Given the description of an element on the screen output the (x, y) to click on. 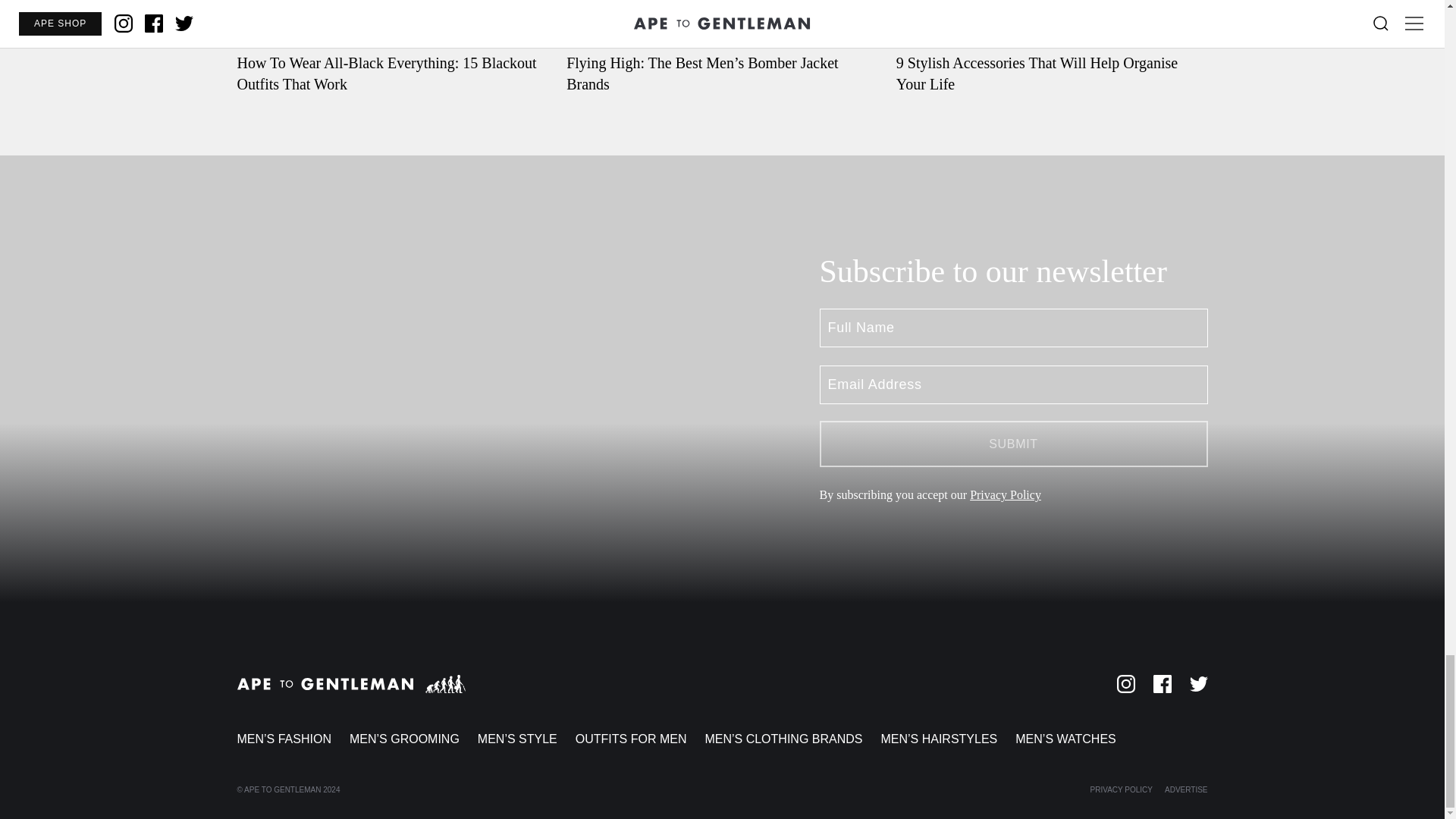
9 Stylish Accessories That Will Help Organise Your Life (1052, 47)
Submit (1012, 443)
9 Stylish Accessories That Will Help Organise Your Life (1052, 47)
Instagram (1125, 683)
